Given the description of an element on the screen output the (x, y) to click on. 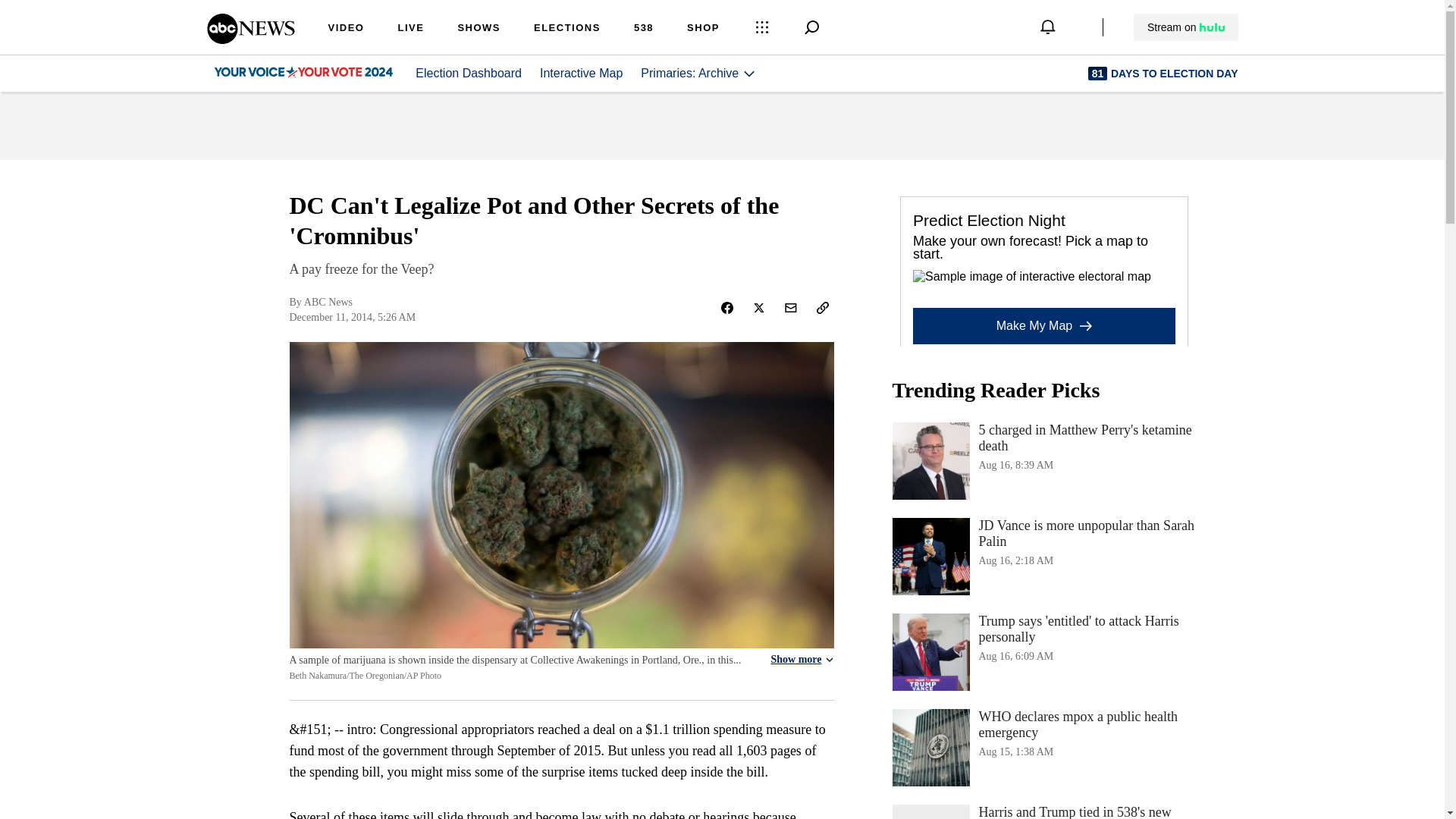
Show more (801, 659)
SHOWS (478, 28)
ELECTIONS (566, 28)
Election Dashboard (467, 73)
538 (643, 28)
VIDEO (345, 28)
ABC News (250, 38)
Interactive Map (1043, 460)
